Given the description of an element on the screen output the (x, y) to click on. 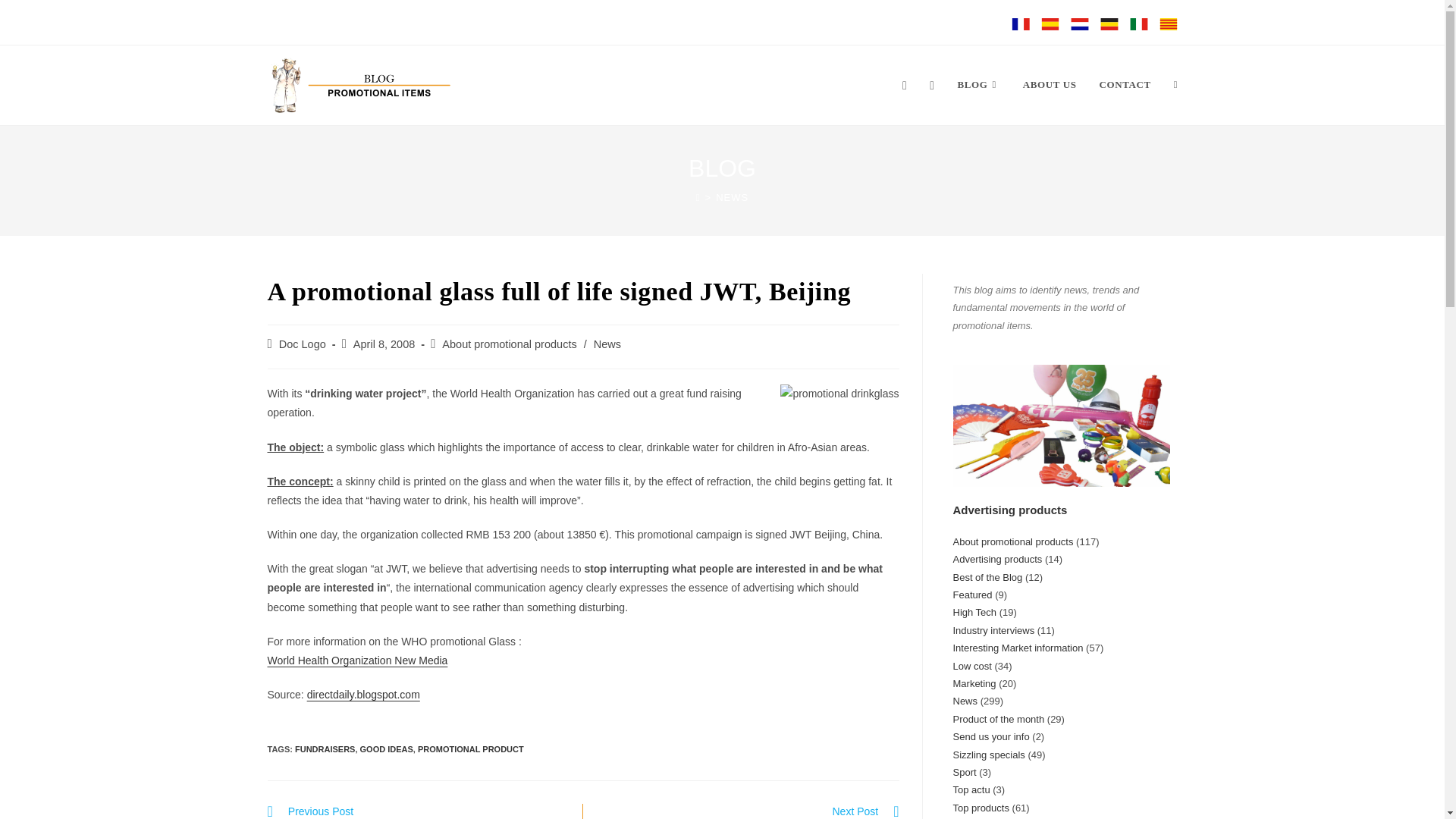
Featured (971, 594)
BLOG (978, 84)
Best of the Blog (987, 577)
Industry interviews (992, 630)
Posts by Doc Logo (302, 344)
World Health Organization New Media (356, 660)
FUNDRAISERS (325, 748)
About promotional products (509, 344)
High Tech (973, 612)
GOOD IDEAS (386, 748)
ABOUT US (1049, 84)
CONTACT (1124, 84)
About promotional products (416, 811)
